Given the description of an element on the screen output the (x, y) to click on. 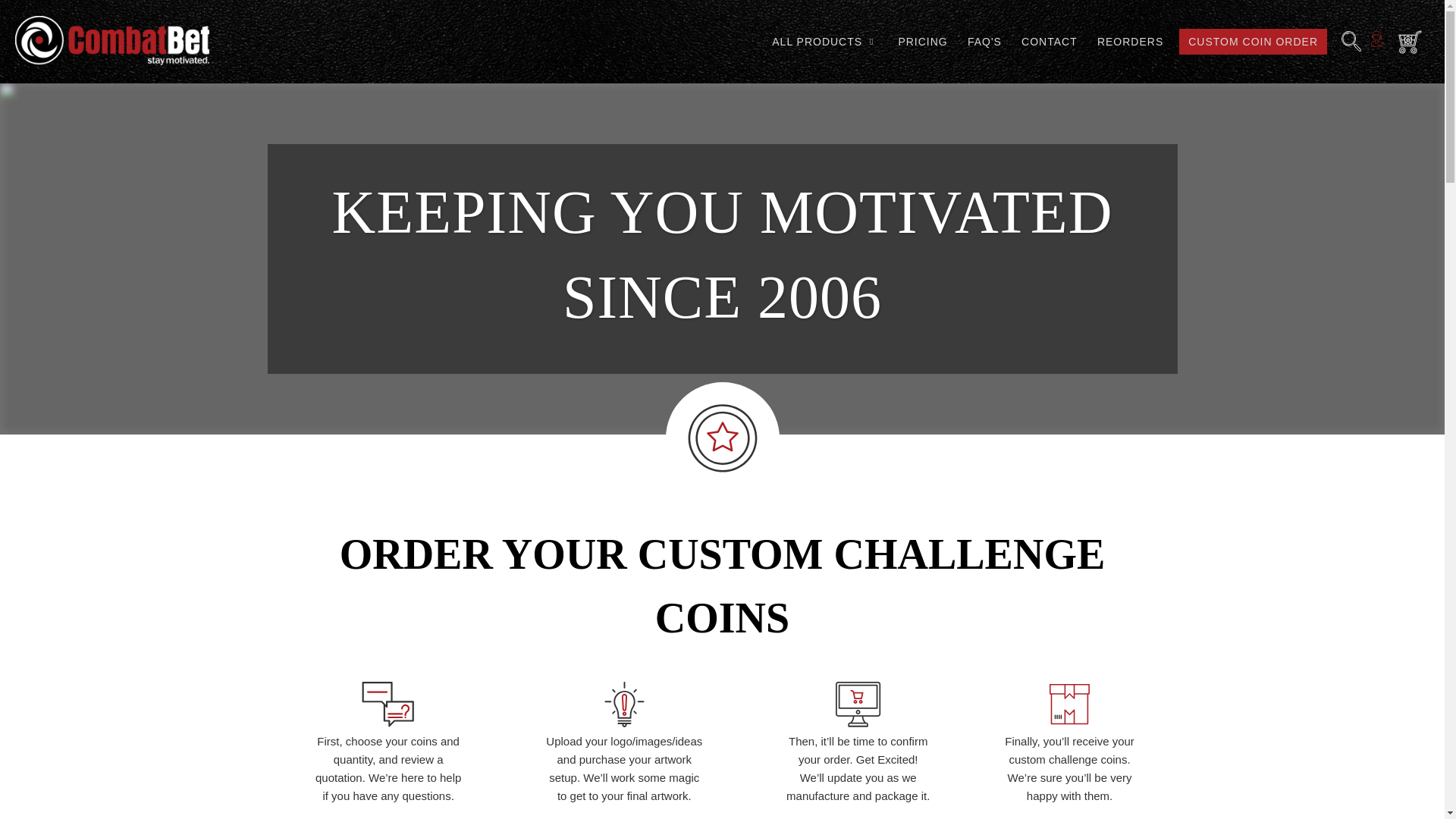
PRICING (922, 41)
Search (1351, 41)
CONTACT (1048, 41)
ALL PRODUCTS (824, 40)
CUSTOM COIN ORDER (1252, 41)
Combatbet  (111, 41)
FAQ'S (984, 41)
REORDERS (1130, 41)
My Account  (1377, 42)
